Given the description of an element on the screen output the (x, y) to click on. 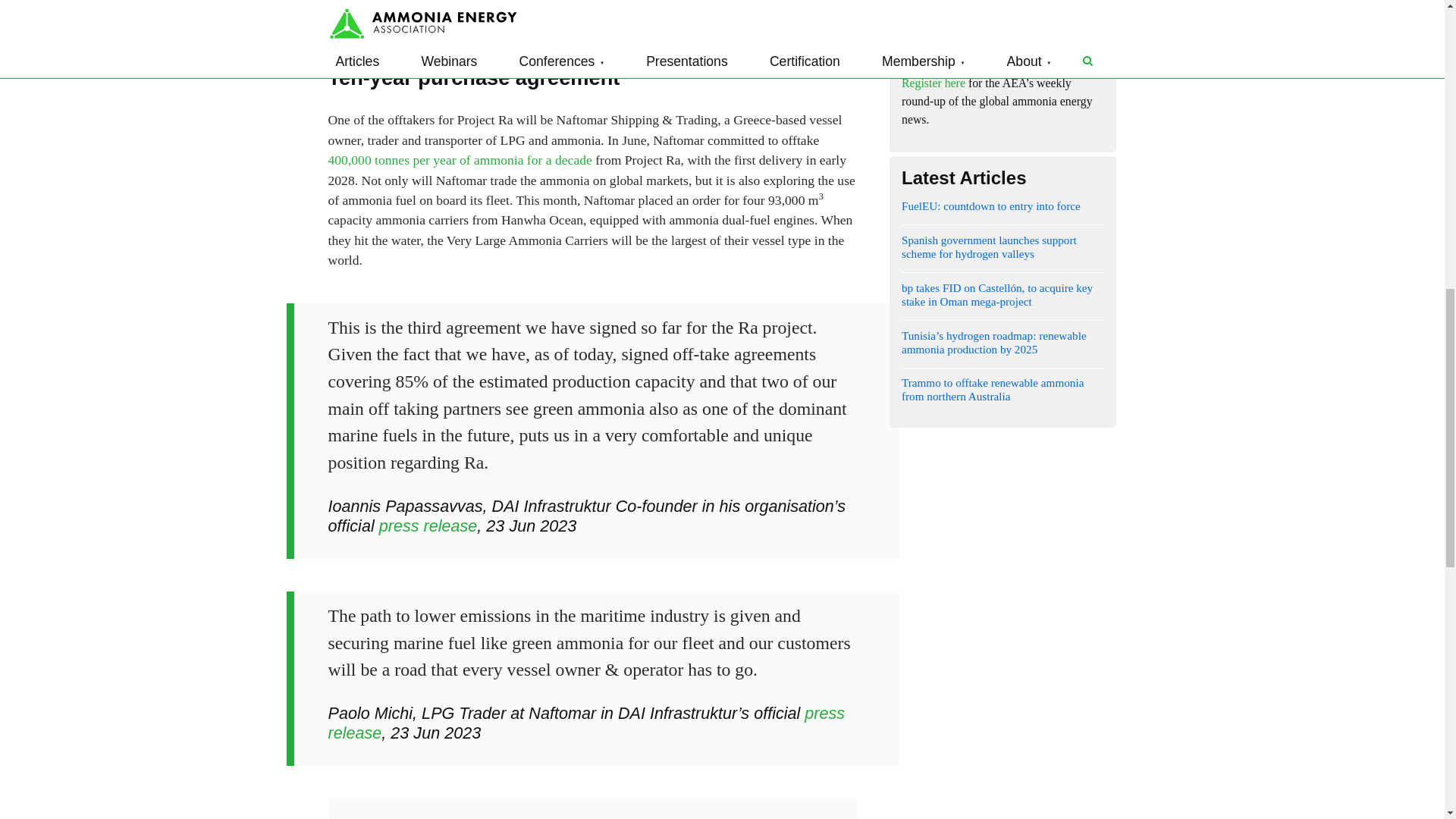
press release (427, 5)
400,000 tonnes per year of ammonia for a decade (459, 159)
press release (427, 525)
